Given the description of an element on the screen output the (x, y) to click on. 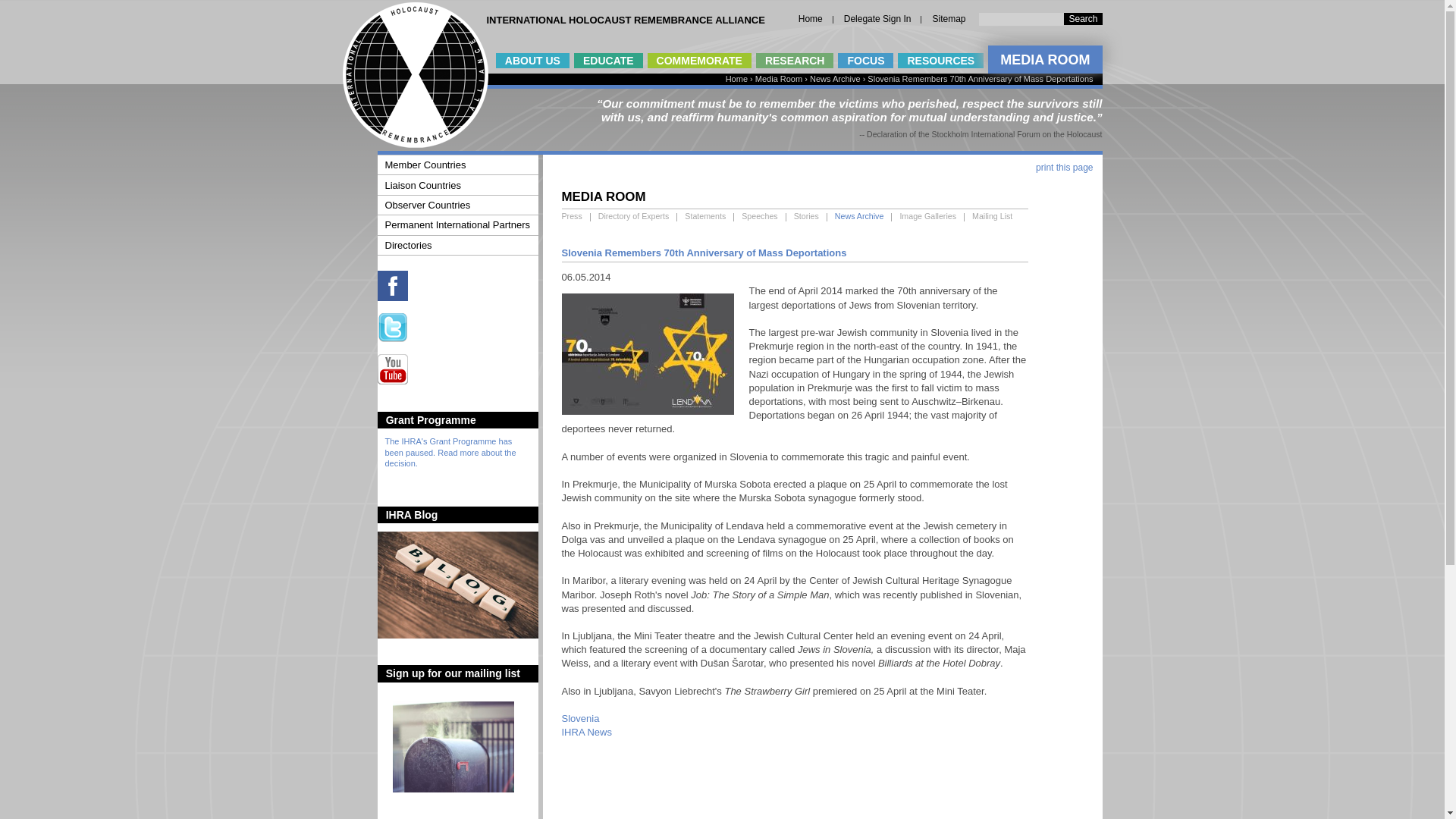
Search (1083, 19)
ABOUT US (532, 60)
Home (414, 143)
Focus (865, 60)
About (532, 60)
FOCUS (865, 60)
EDUCATE (608, 60)
Educate (608, 60)
Home (809, 18)
RESOURCES (941, 60)
RESEARCH (794, 60)
Delegate Sign In (877, 18)
Sitemap (948, 18)
Commemorate (699, 60)
Search (1083, 19)
